Given the description of an element on the screen output the (x, y) to click on. 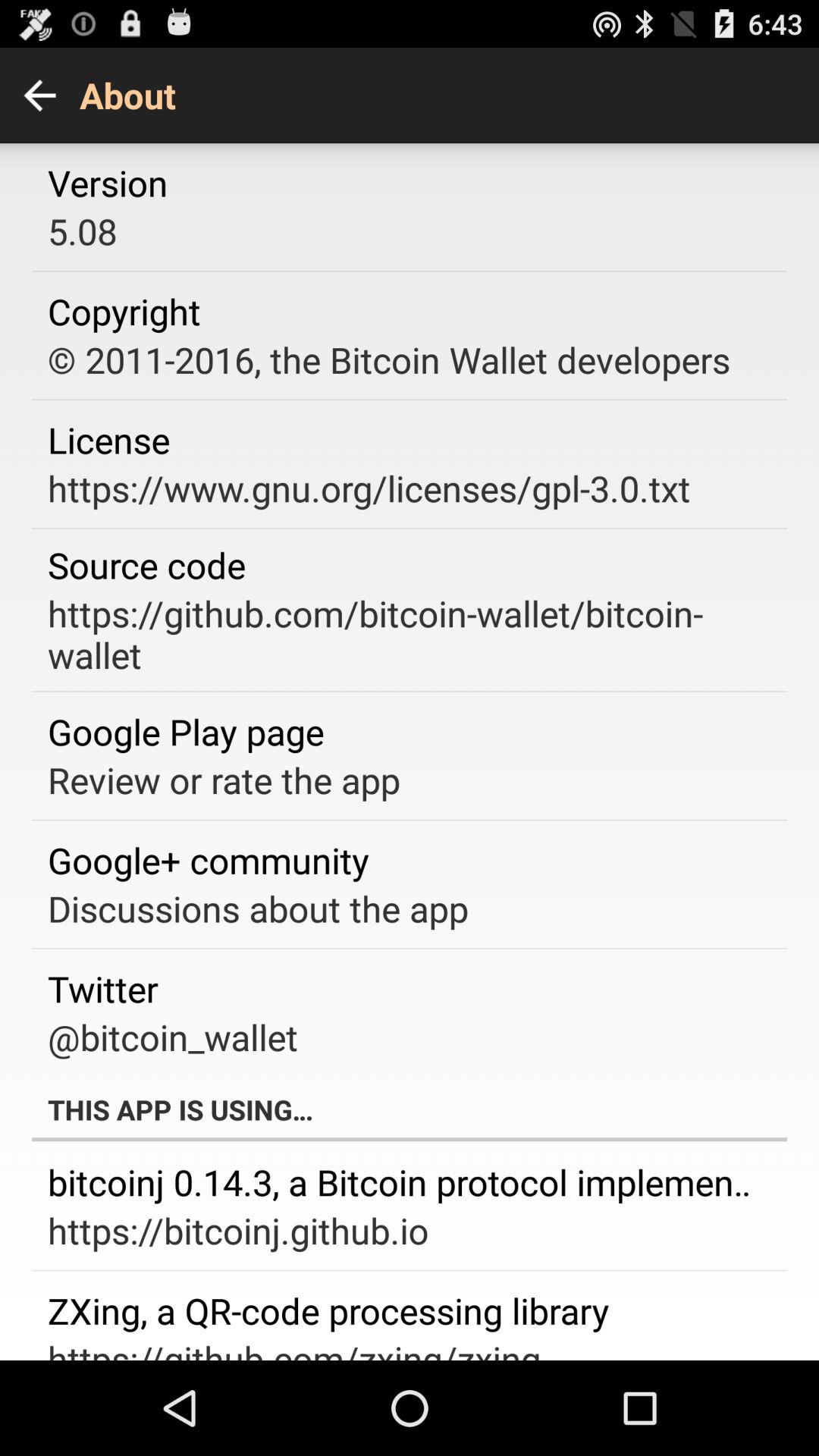
turn on the discussions about the (257, 908)
